Given the description of an element on the screen output the (x, y) to click on. 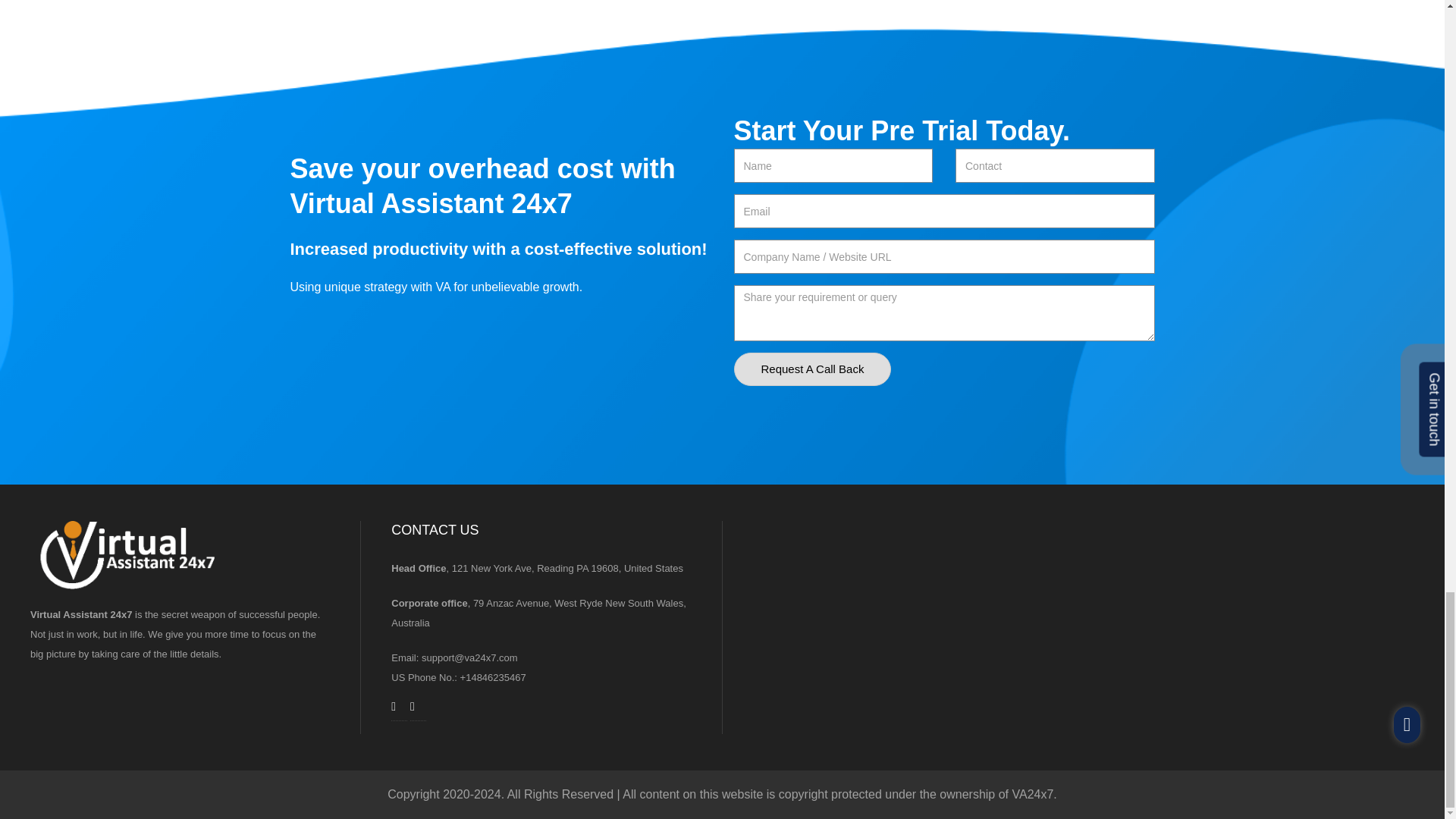
Request A Call Back (812, 368)
